Given the description of an element on the screen output the (x, y) to click on. 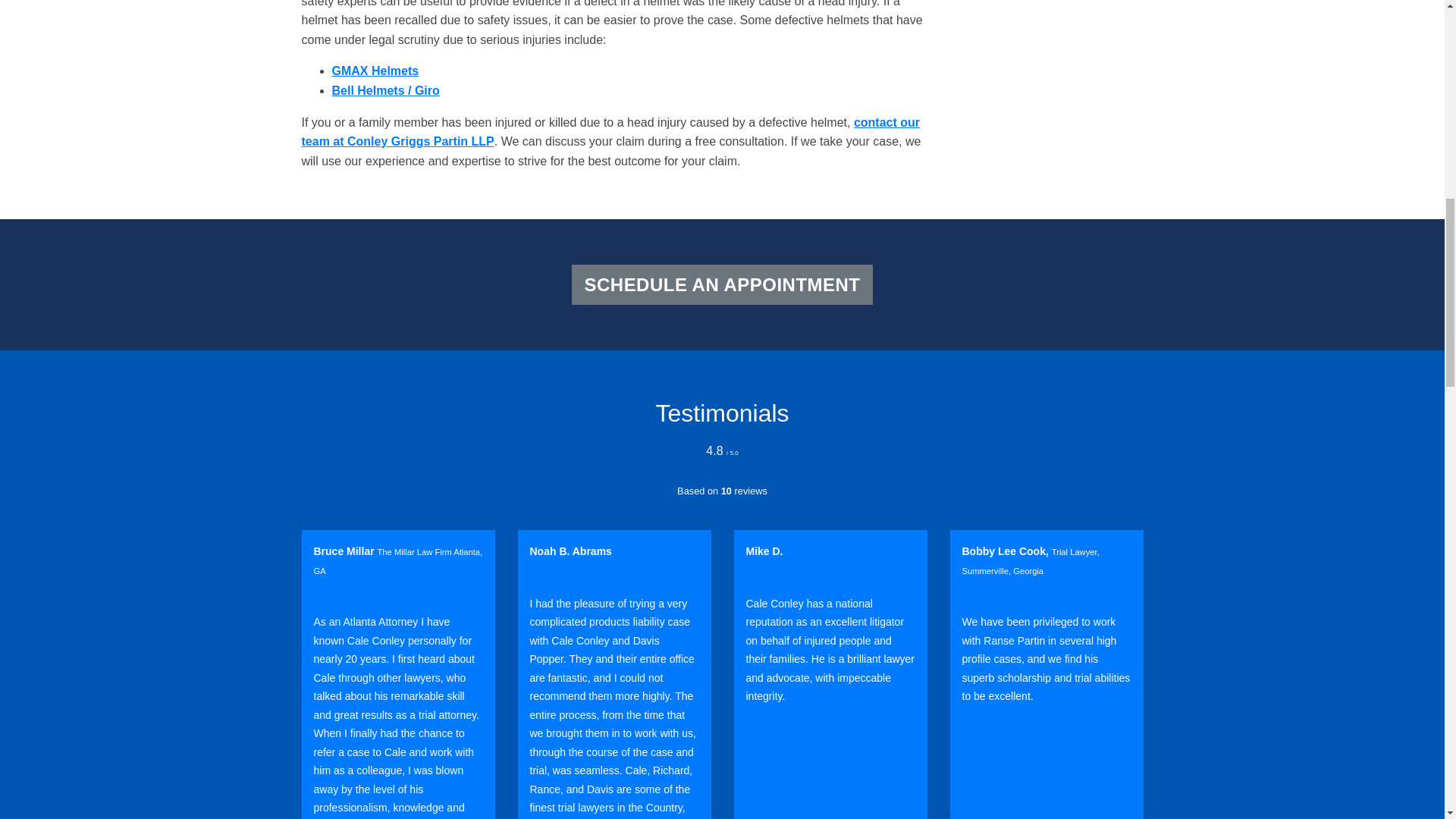
Atlanta GA Defective Bell Helmets Lawsuit Injury Lawyer (385, 90)
Atlanta GA Defective GMAX Helmet Lawsuits Lawyer (375, 70)
Contact Conley Griggs Partin in Atlanta GA (610, 132)
